Given the description of an element on the screen output the (x, y) to click on. 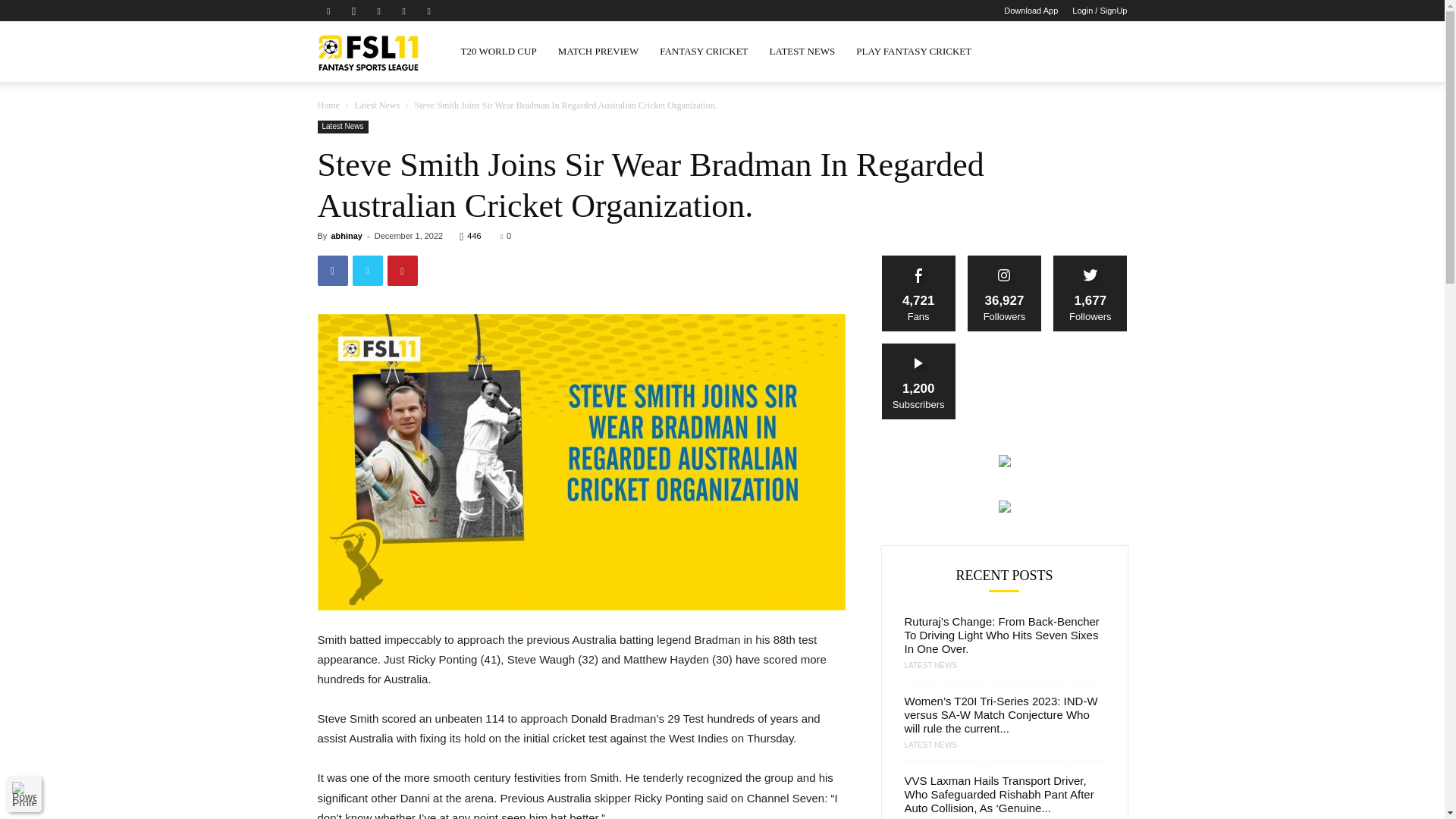
Latest News (342, 126)
abhinay (346, 235)
Twitter (403, 10)
FANTASY CRICKET (703, 51)
Youtube (429, 10)
PLAY FANTASY CRICKET (913, 51)
MATCH PREVIEW (598, 51)
Facebook (328, 10)
Linkedin (379, 10)
View all posts in Latest News (375, 104)
Home (328, 104)
T20 WORLD CUP (498, 51)
Latest News (375, 104)
LATEST NEWS (801, 51)
